Given the description of an element on the screen output the (x, y) to click on. 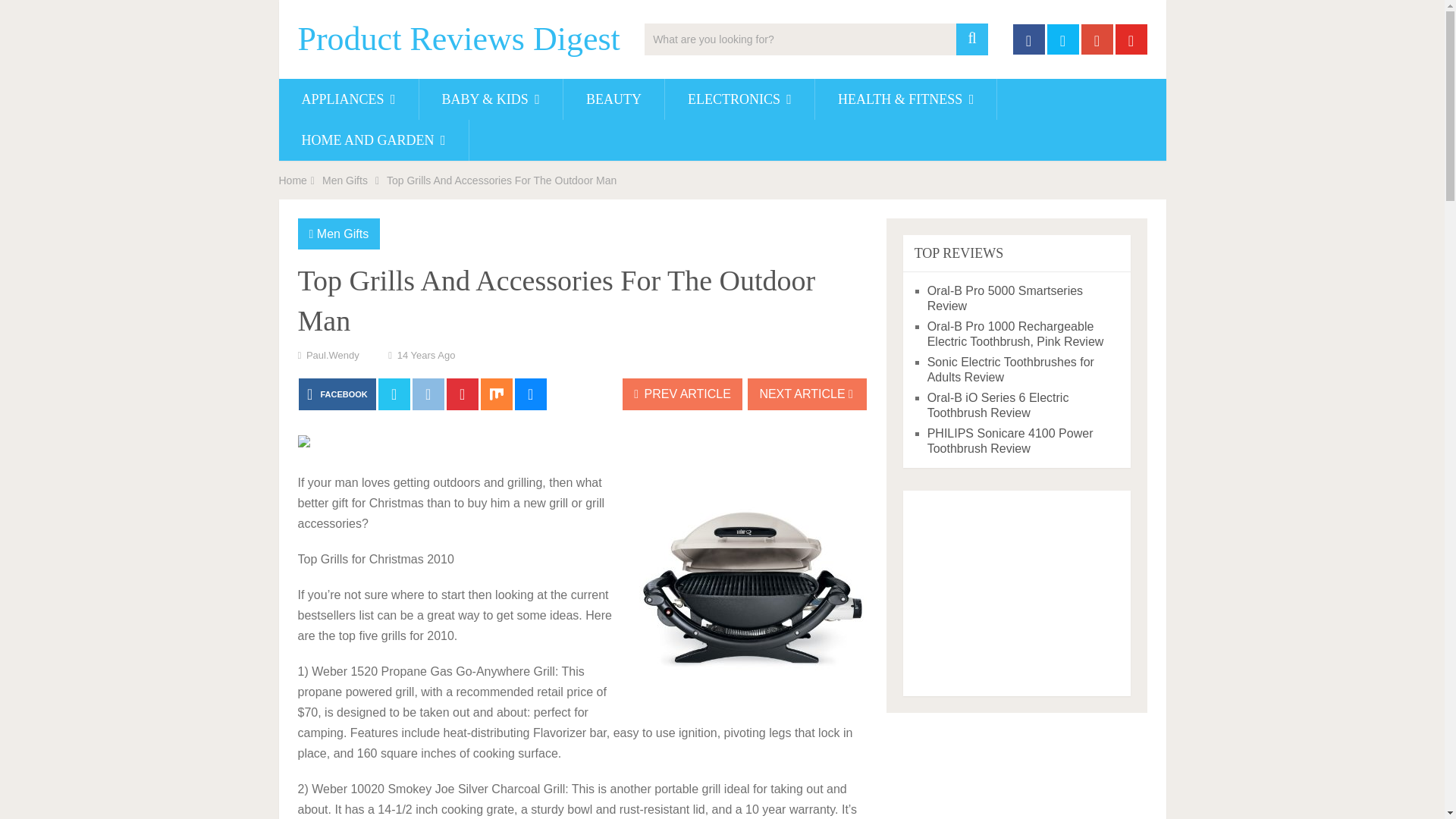
APPLIANCES (349, 98)
NEXT ARTICLE (807, 394)
Men Gifts (342, 233)
Paul.Wendy (332, 355)
ELECTRONICS (739, 98)
Top Outdoor Grills (752, 589)
View all posts in Men Gifts (342, 233)
FACEBOOK (336, 394)
Product Reviews Digest (458, 39)
BEAUTY (613, 98)
